Given the description of an element on the screen output the (x, y) to click on. 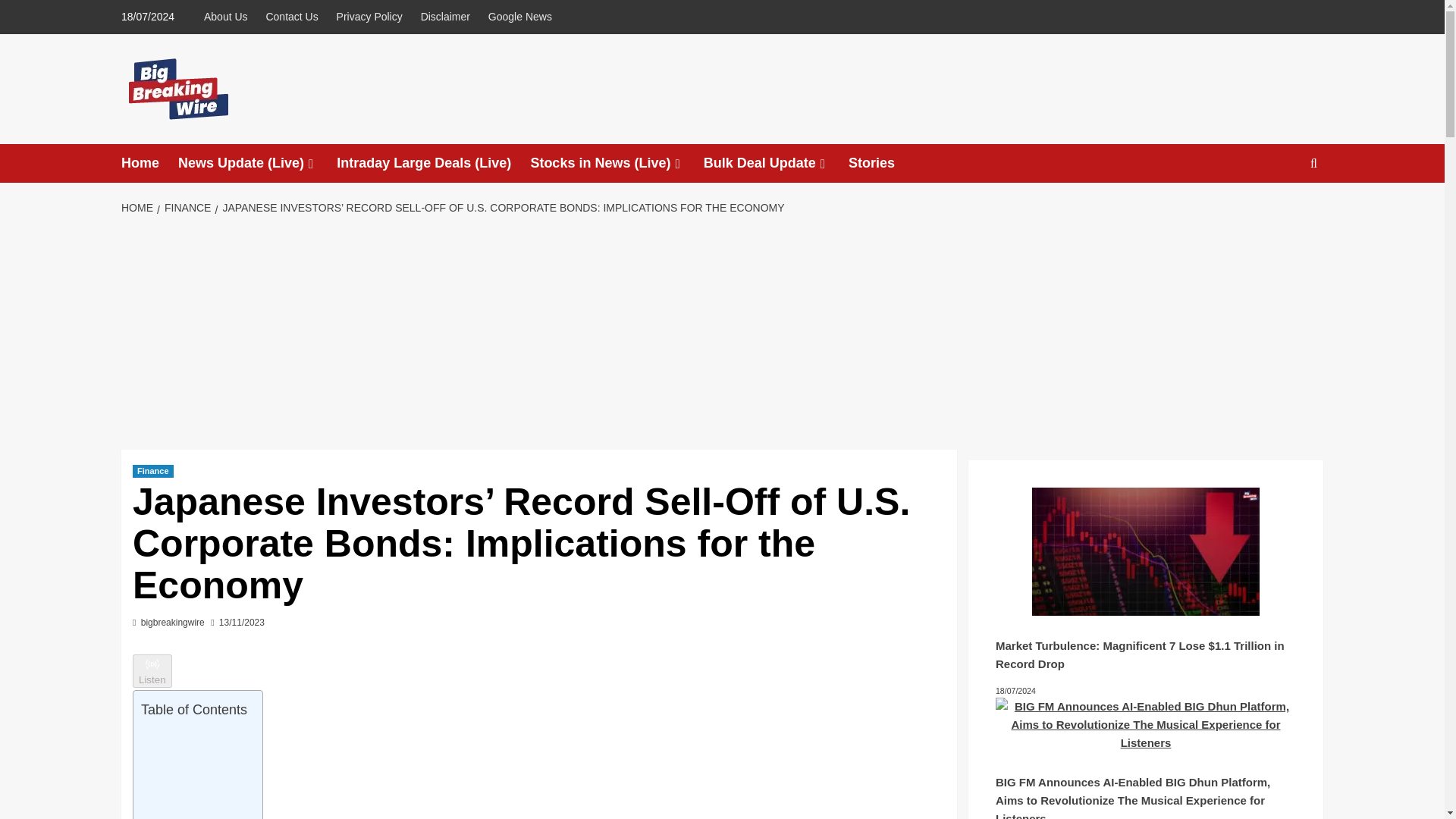
Home (148, 163)
Advertisement (194, 772)
Finance (152, 471)
bigbreakingwire (173, 622)
Stories (881, 163)
Search (1278, 209)
Google News (519, 17)
Search (1313, 162)
Bulk Deal Update (775, 163)
About Us (229, 17)
Contact Us (290, 17)
HOME (138, 207)
Disclaimer (445, 17)
Privacy Policy (369, 17)
